Given the description of an element on the screen output the (x, y) to click on. 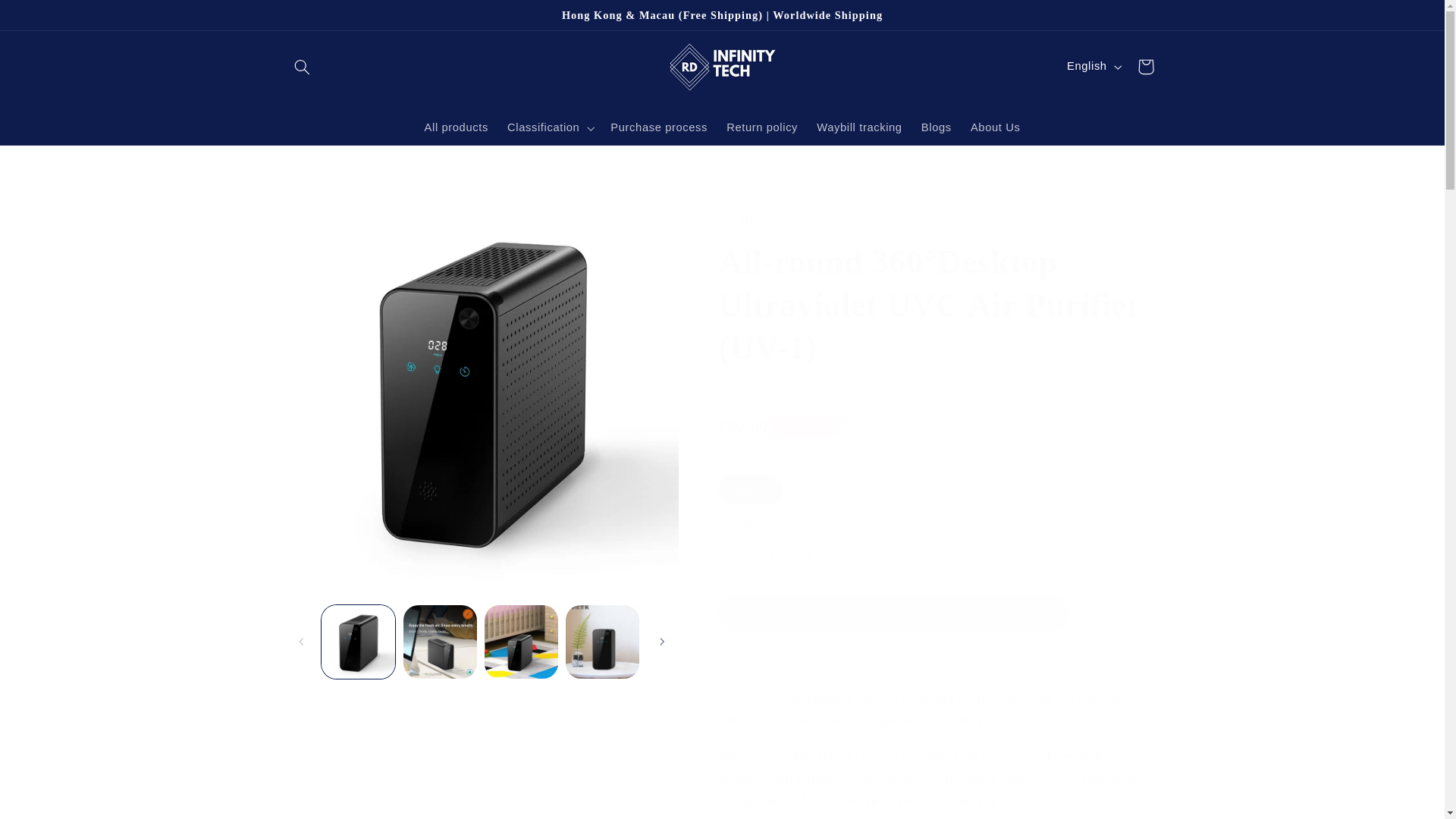
Purchase process (659, 127)
1 (771, 555)
Cart (1145, 66)
Waybill tracking (860, 127)
All products (455, 127)
Skip to content (48, 18)
About Us (994, 127)
Blogs (935, 127)
Skip to product information (331, 208)
